Given the description of an element on the screen output the (x, y) to click on. 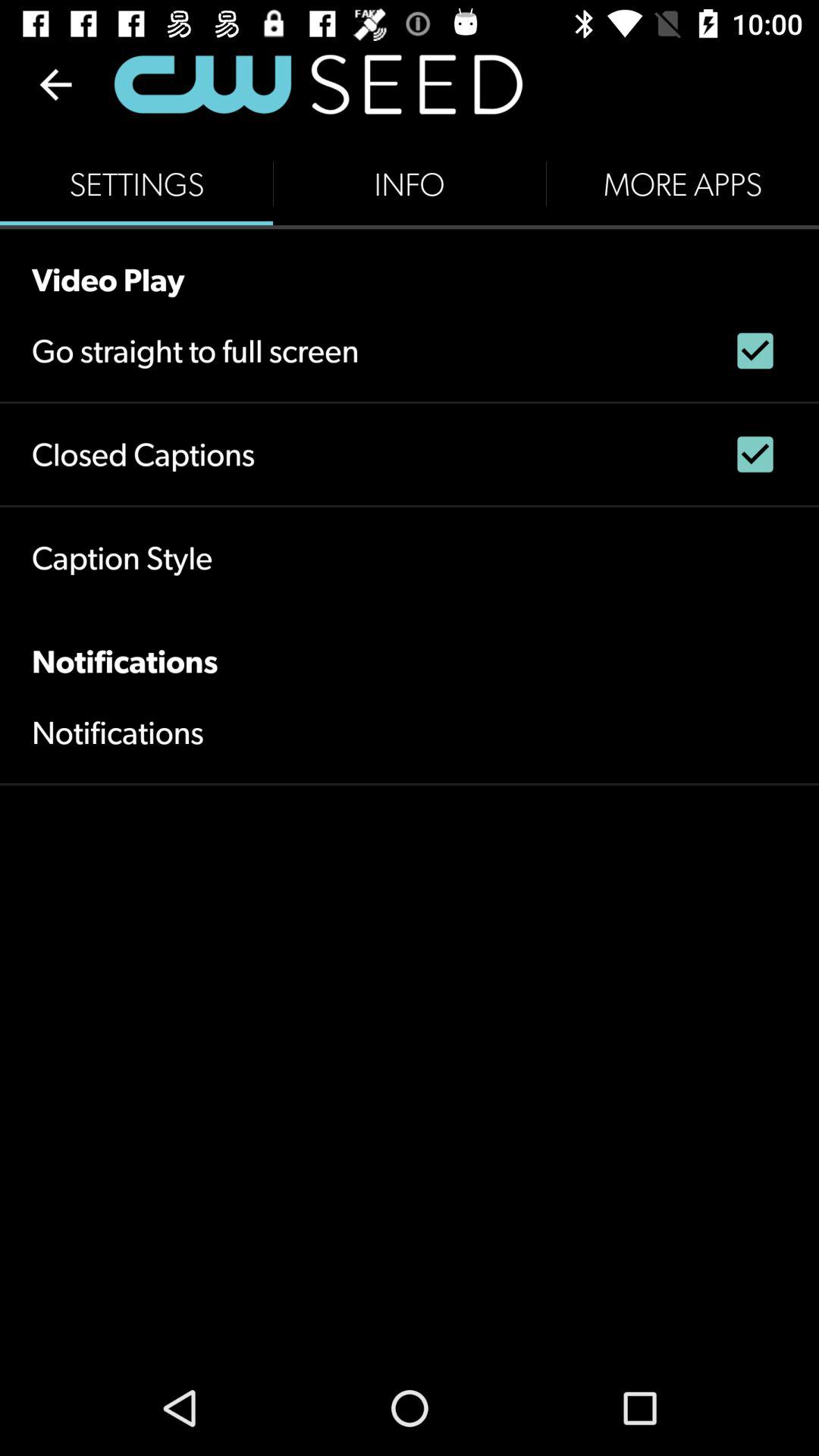
scroll to closed captions (142, 454)
